Given the description of an element on the screen output the (x, y) to click on. 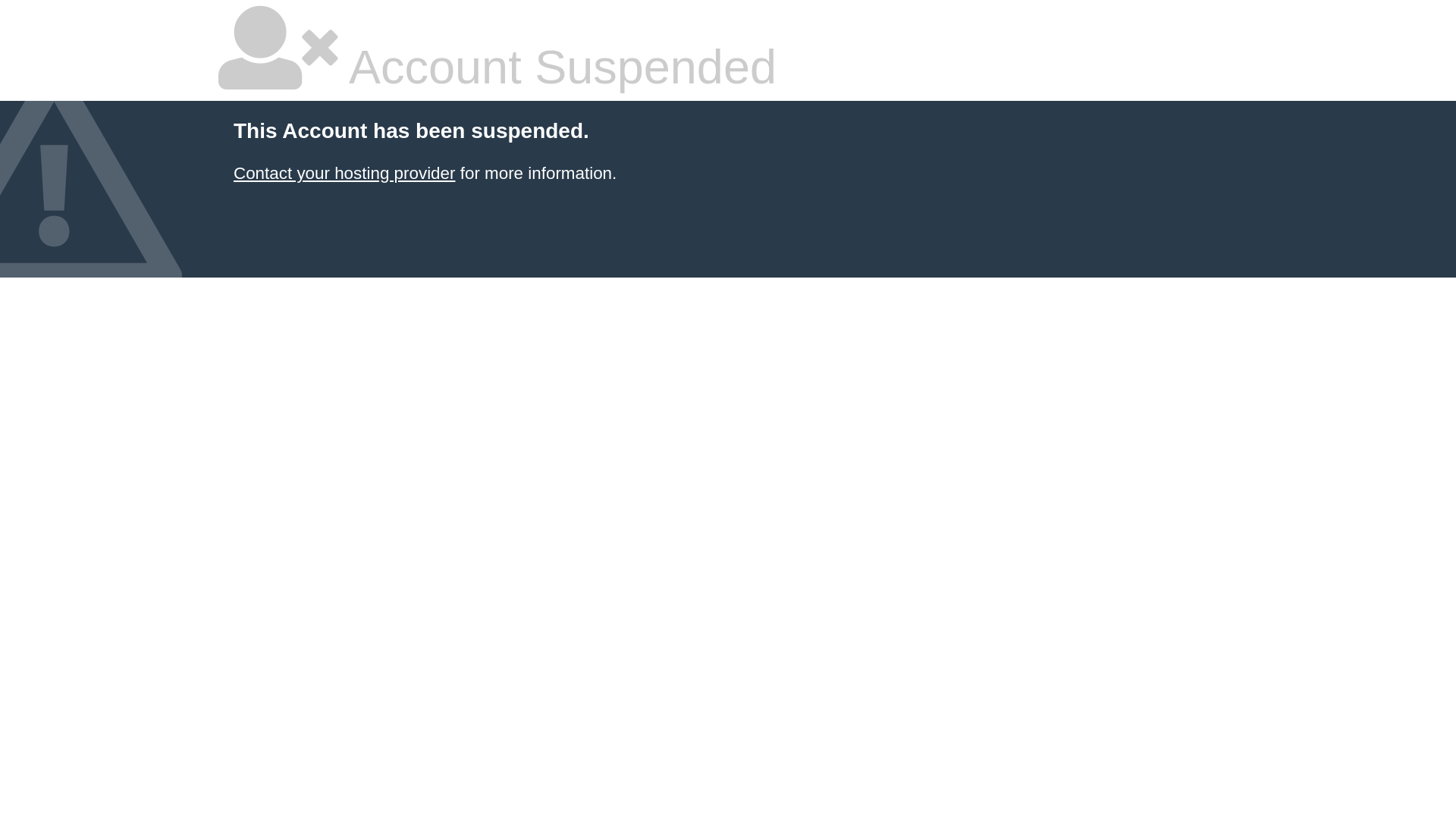
Contact your hosting provider Element type: text (344, 172)
